Given the description of an element on the screen output the (x, y) to click on. 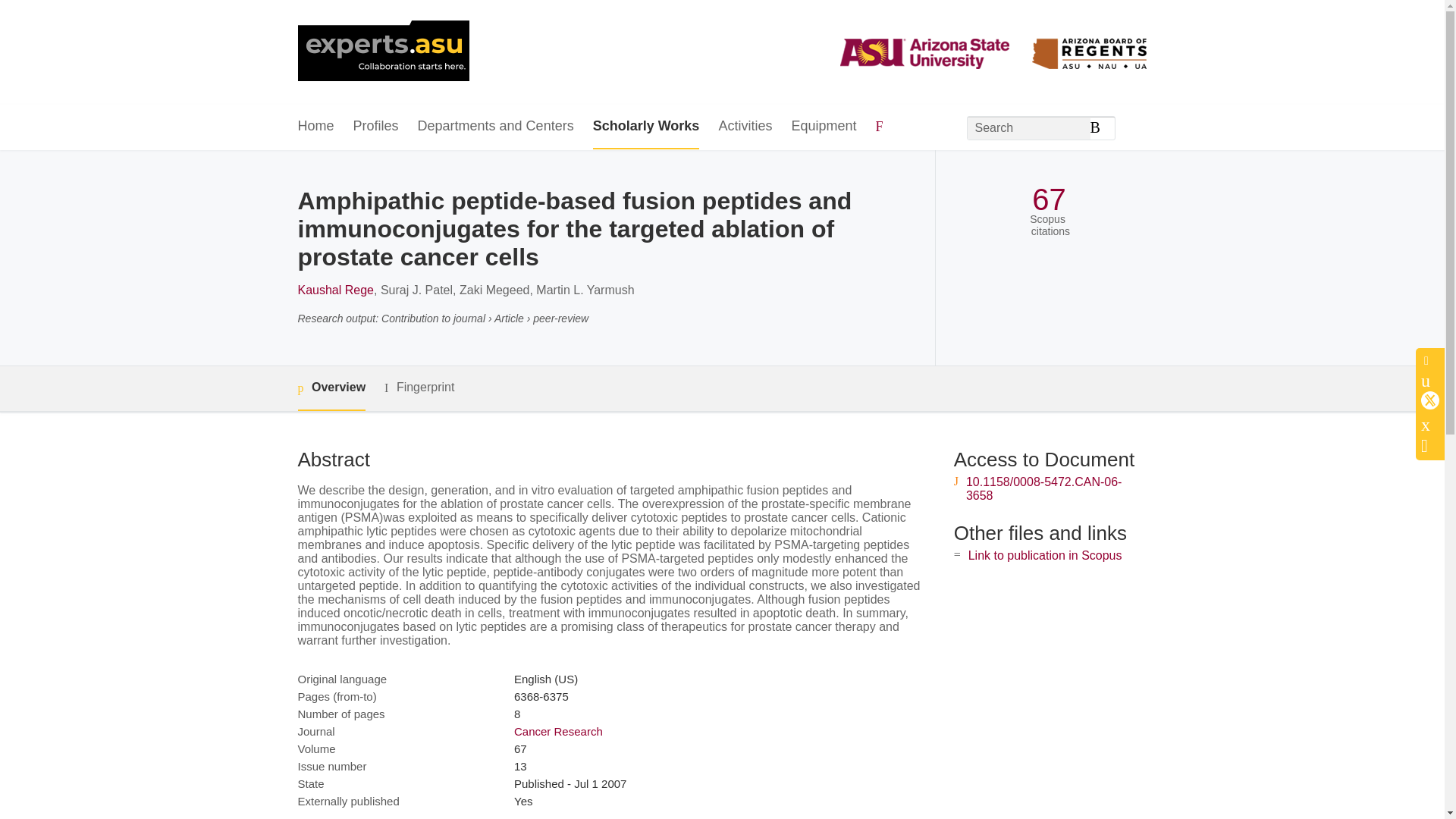
Profiles (375, 126)
Equipment (823, 126)
Cancer Research (557, 730)
Departments and Centers (495, 126)
Scholarly Works (646, 126)
Kaushal Rege (335, 289)
Activities (744, 126)
Arizona State University Home (382, 52)
67 (1048, 199)
Fingerprint (419, 387)
Overview (331, 388)
Link to publication in Scopus (1045, 554)
